Given the description of an element on the screen output the (x, y) to click on. 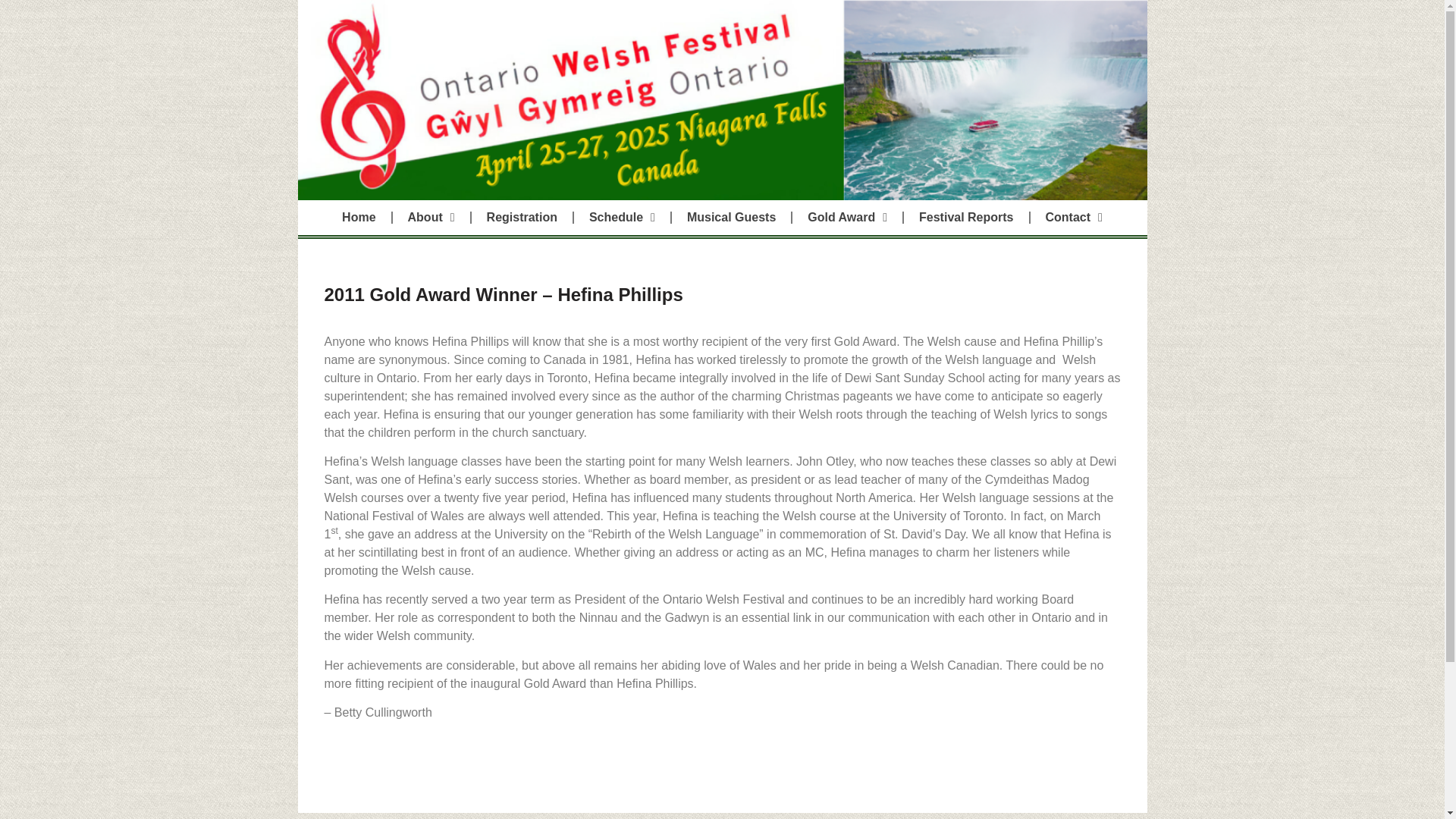
Home (358, 217)
Schedule (621, 217)
Contact (1074, 217)
Musical Guests (730, 217)
About (431, 217)
Registration (521, 217)
Festival Reports (965, 217)
Gold Award (847, 217)
About Us (431, 217)
